Given the description of an element on the screen output the (x, y) to click on. 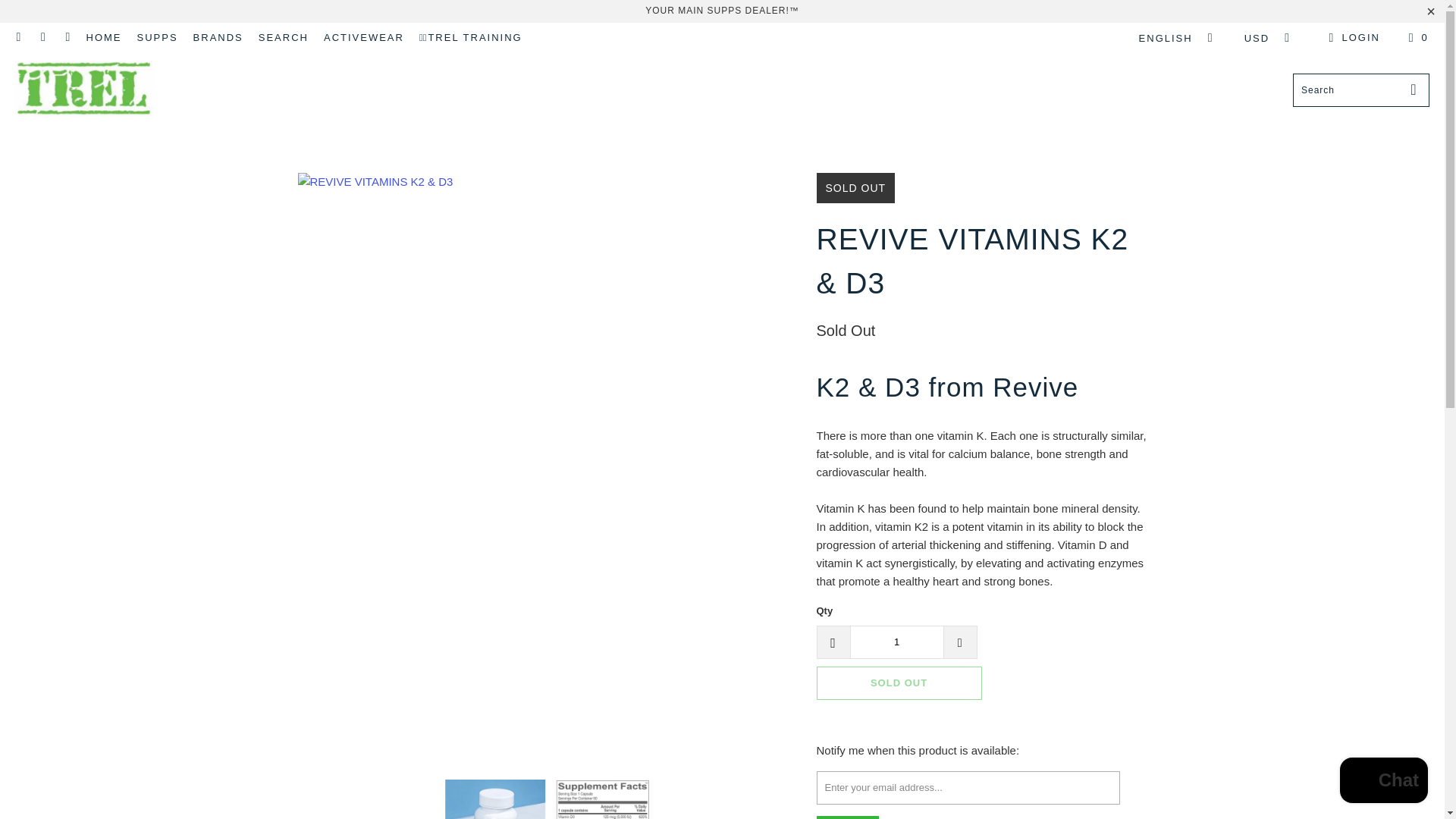
ENGLISH (1171, 37)
HOME (103, 37)
ACTIVEWEAR (363, 37)
SEARCH (283, 37)
SUPPS (156, 37)
BRANDS (218, 37)
My Account  (1351, 37)
Send (846, 817)
1 (895, 642)
